Given the description of an element on the screen output the (x, y) to click on. 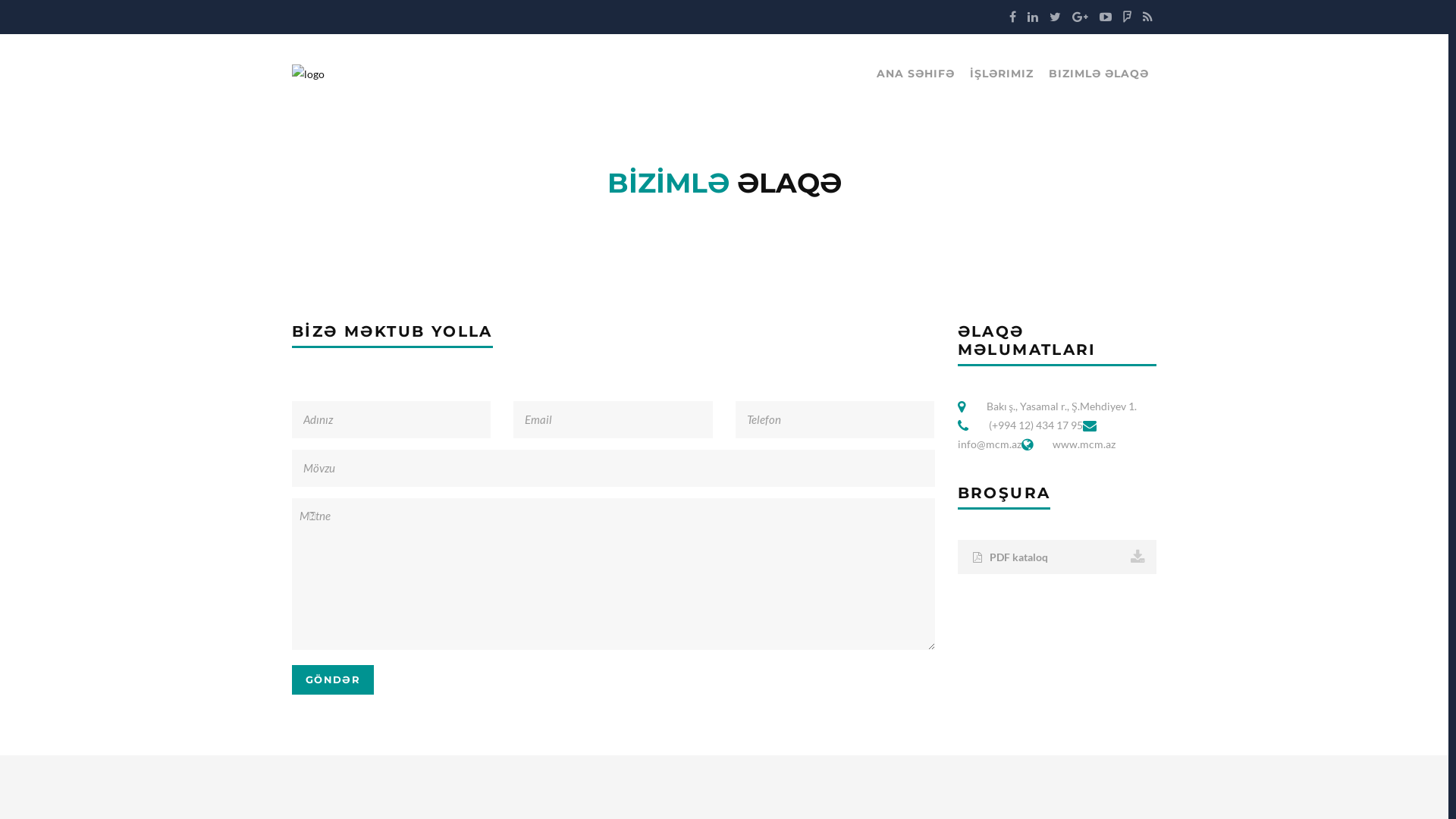
PDF kataloq Element type: text (1056, 556)
